Given the description of an element on the screen output the (x, y) to click on. 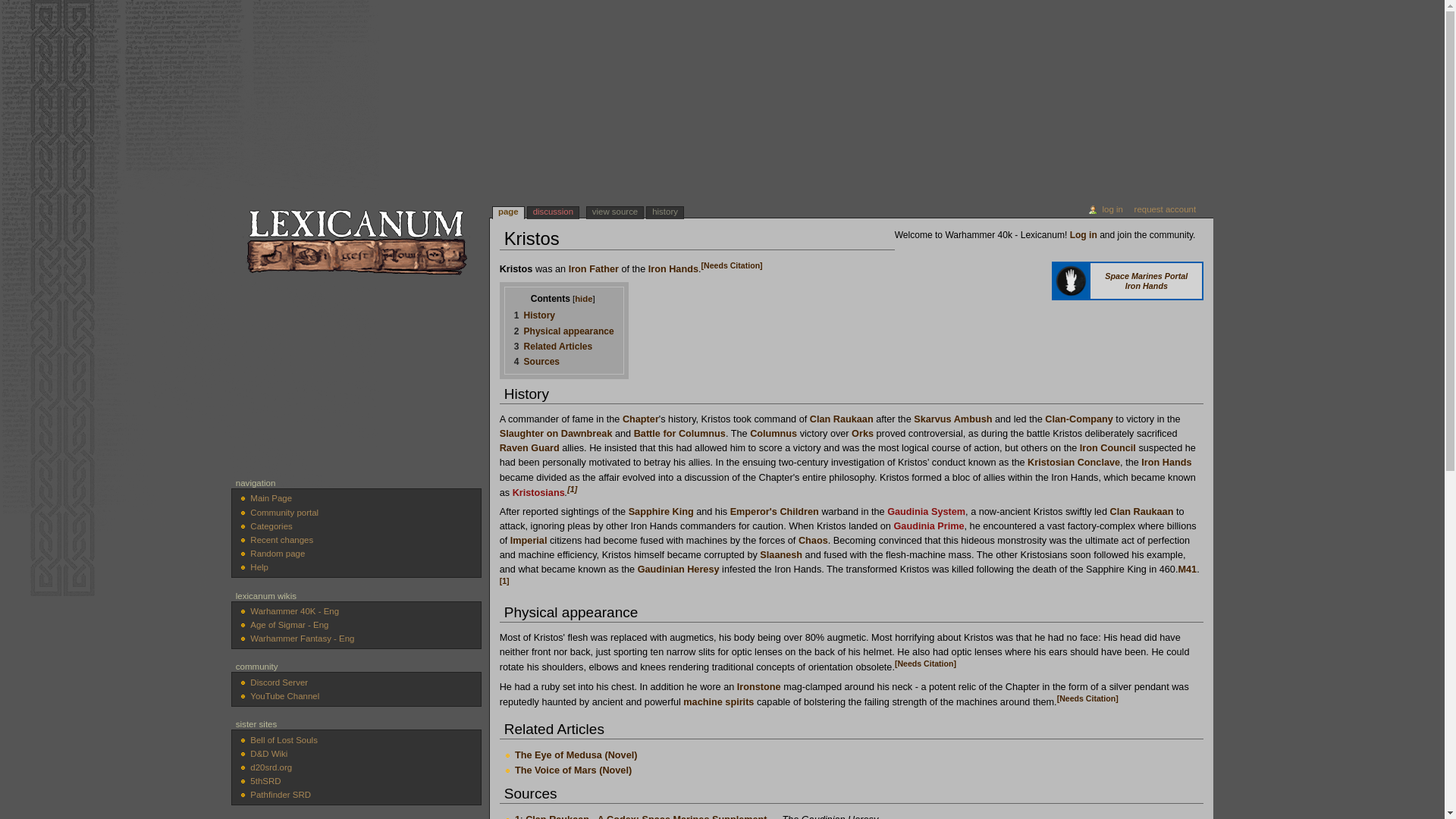
Clan Raukaan (841, 419)
Chapter (641, 419)
Orks (862, 433)
Ork (862, 433)
Sapphire King (661, 511)
3 Related Articles (552, 346)
Raven Guard (529, 448)
Emperor's Children (774, 511)
Gaudinian Heresy (678, 569)
Slaanesh (781, 554)
Iron Father (593, 268)
Lexicanum:Citation (731, 265)
Gaudinia System (925, 511)
Chapter (641, 419)
Battle for Columnus (679, 433)
